Given the description of an element on the screen output the (x, y) to click on. 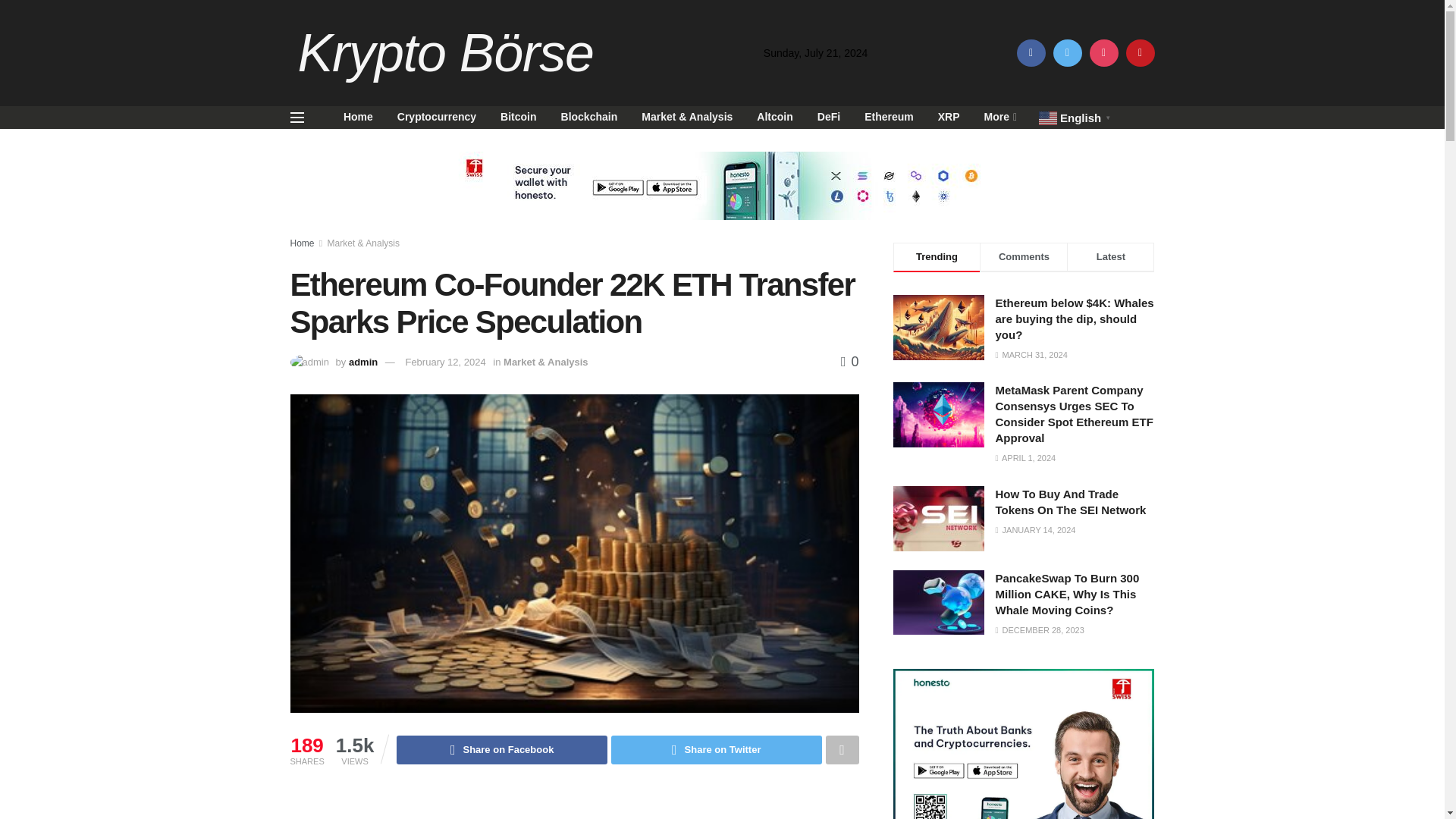
XRP (949, 116)
admin (363, 361)
Bitcoin (517, 116)
Blockchain (589, 116)
Ethereum (888, 116)
Altcoin (774, 116)
Home (358, 116)
More (999, 116)
Home (301, 243)
Cryptocurrency (436, 116)
DeFi (828, 116)
